Given the description of an element on the screen output the (x, y) to click on. 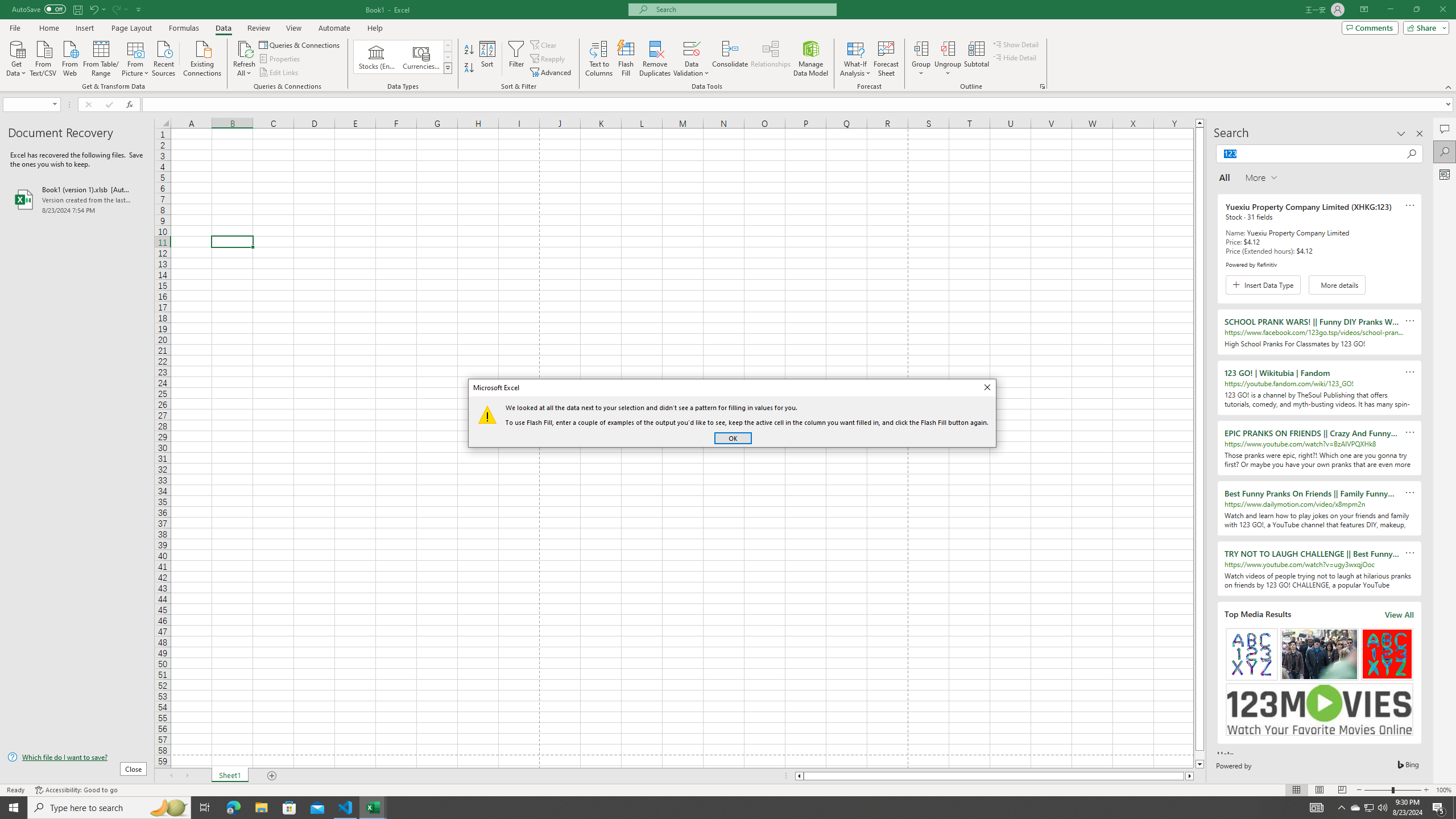
Manage Data Model (810, 58)
File Explorer (261, 807)
Filter (515, 58)
Task View (204, 807)
Hide Detail (1014, 56)
From Text/CSV (43, 57)
Subtotal (976, 58)
